Given the description of an element on the screen output the (x, y) to click on. 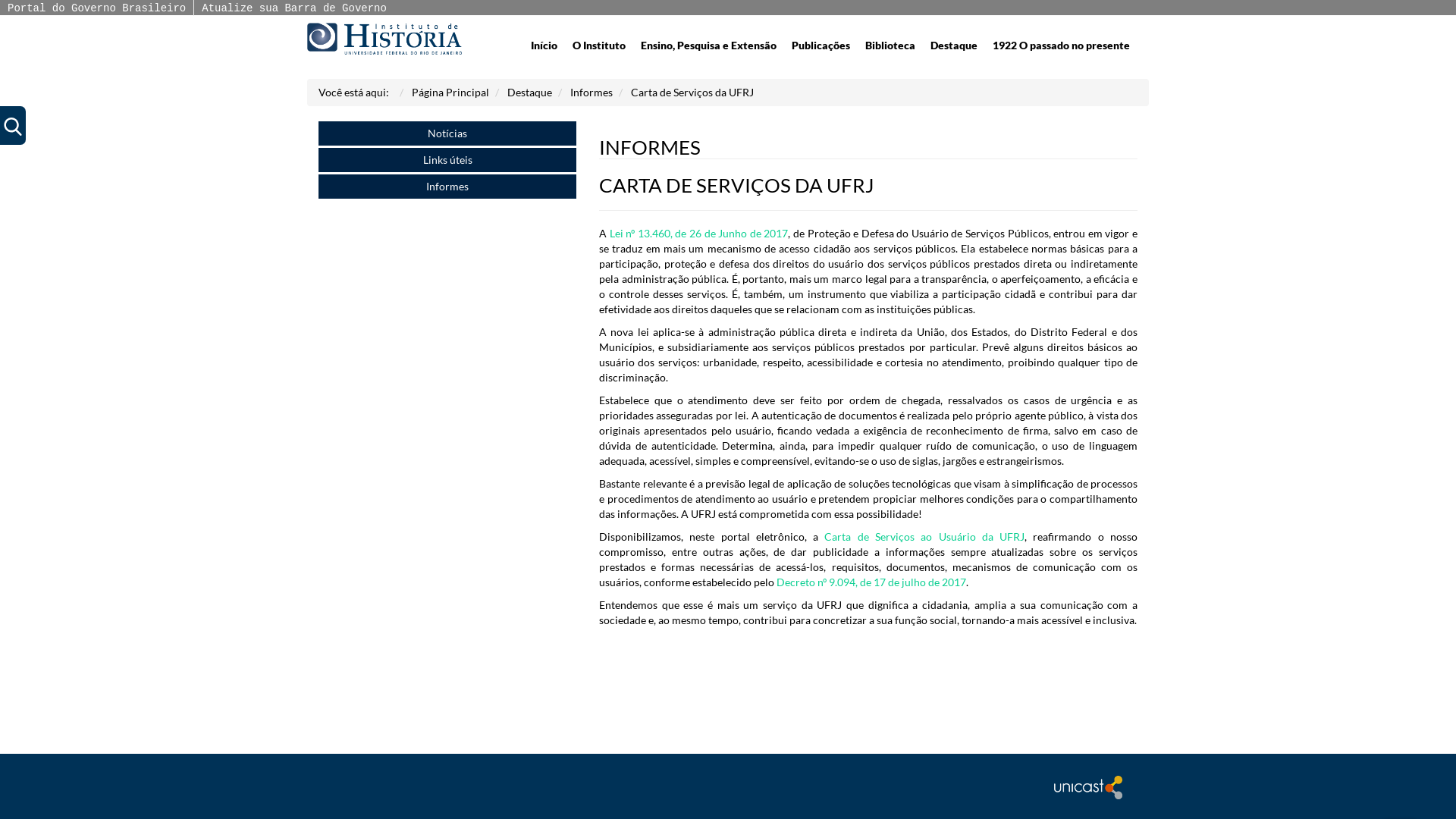
Destaque Element type: text (953, 45)
Informes Element type: text (447, 186)
Biblioteca Element type: text (890, 45)
Atualize sua Barra de Governo Element type: text (293, 8)
O Instituto Element type: text (598, 45)
Destaque Element type: text (529, 91)
1922 O passado no presente Element type: text (1060, 45)
Portal do Governo Brasileiro Element type: text (96, 8)
Informes Element type: text (591, 91)
